Given the description of an element on the screen output the (x, y) to click on. 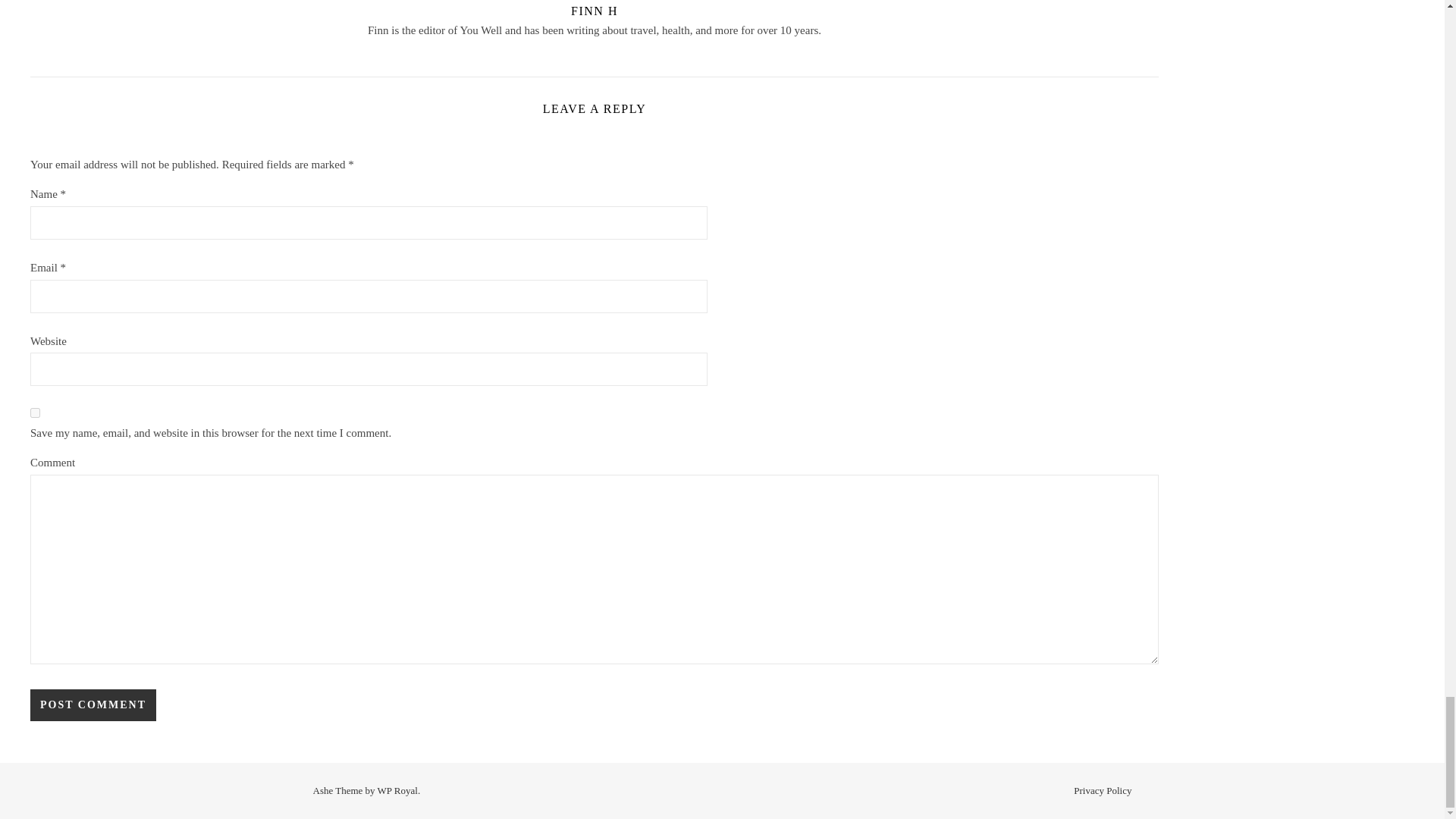
Post Comment (92, 705)
Posts by Finn H (593, 10)
yes (35, 412)
